Given the description of an element on the screen output the (x, y) to click on. 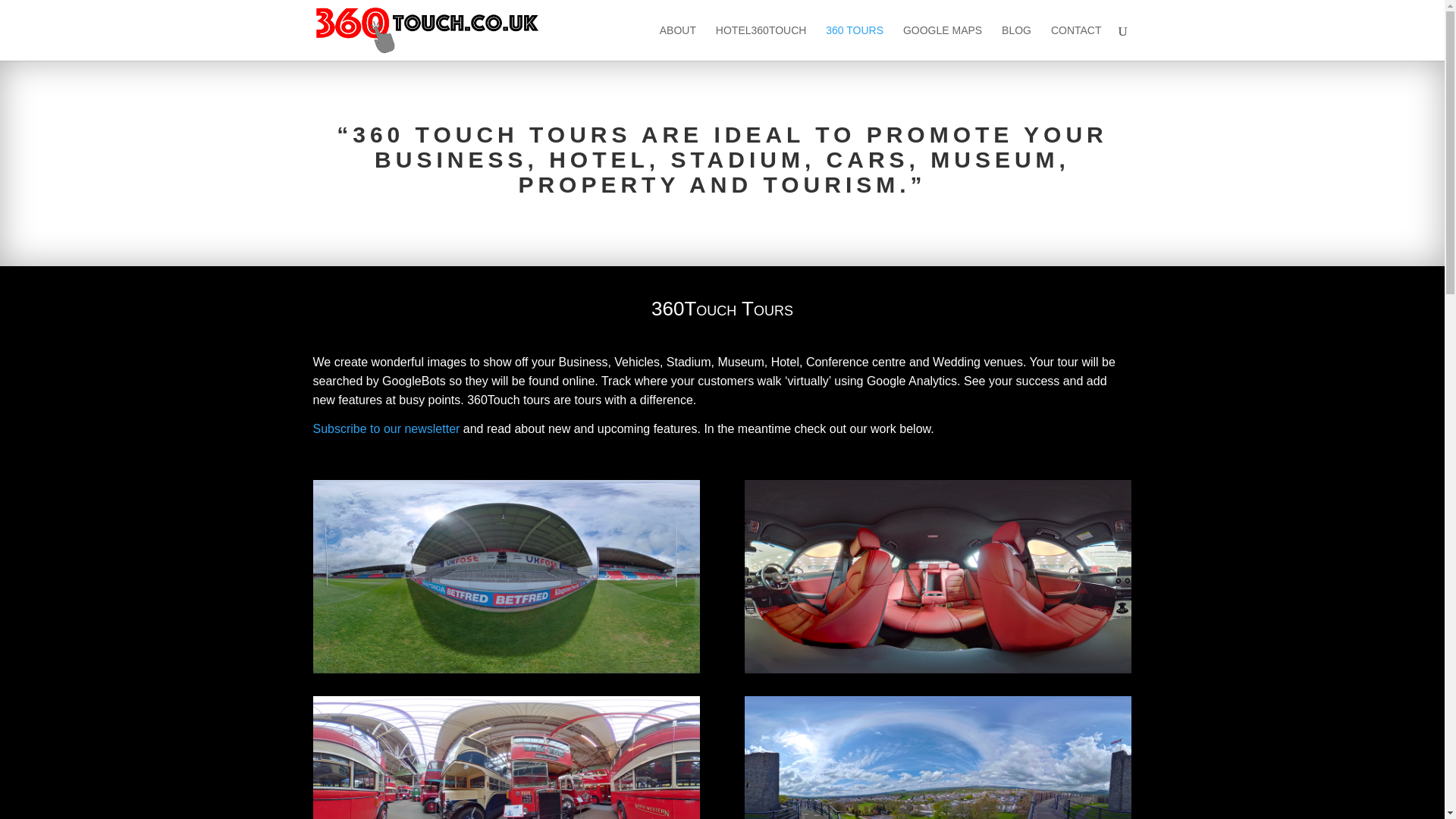
Subscribe to our newsletter (386, 428)
ABOUT (677, 42)
CONTACT (1076, 42)
360 TOURS (854, 42)
HOTEL360TOUCH (761, 42)
GOOGLE MAPS (941, 42)
